Given the description of an element on the screen output the (x, y) to click on. 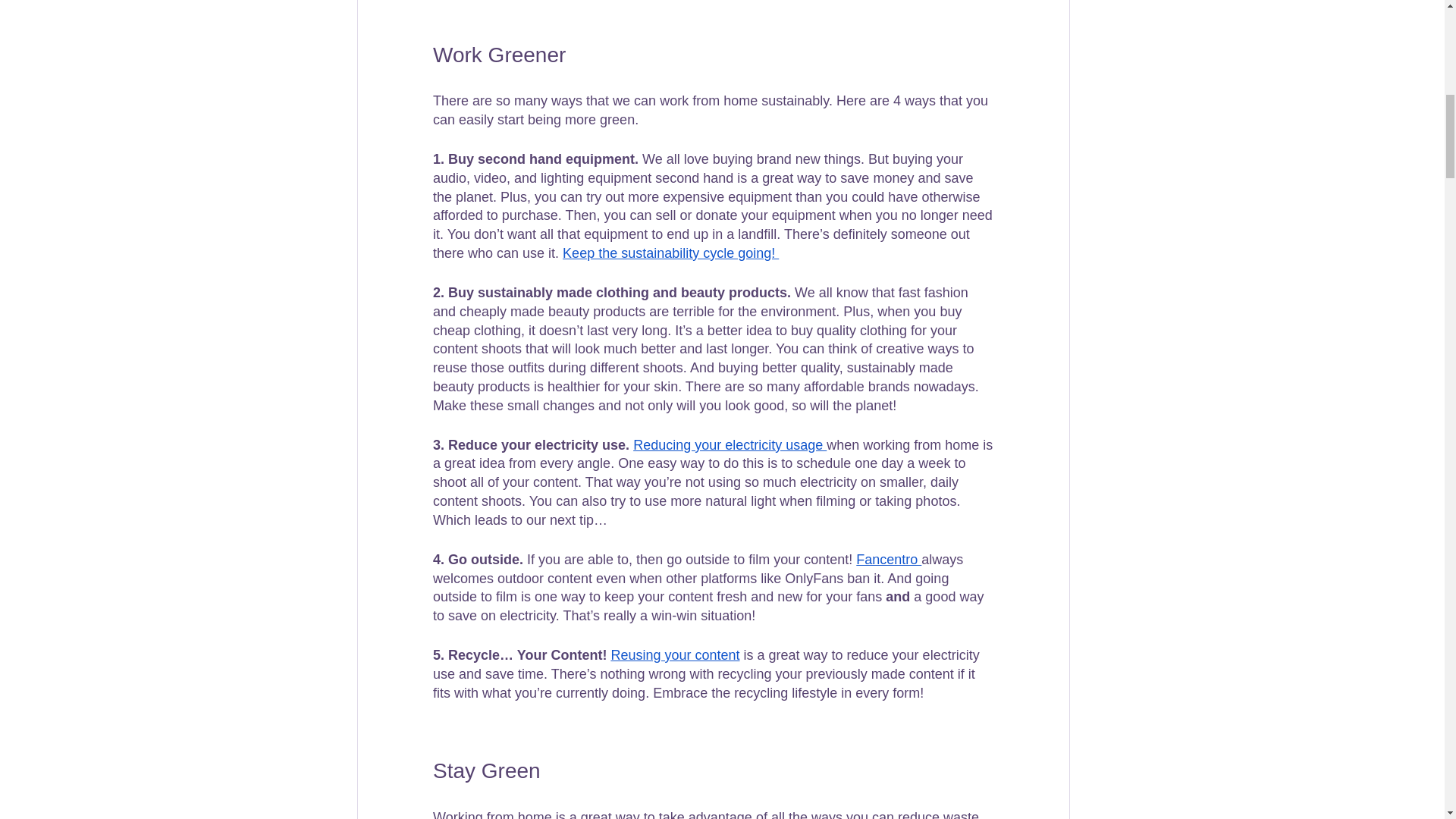
Reusing your content (674, 654)
Keep the sustainability cycle going!  (670, 253)
Reducing your electricity usage  (730, 444)
Fancentro  (888, 559)
